Given the description of an element on the screen output the (x, y) to click on. 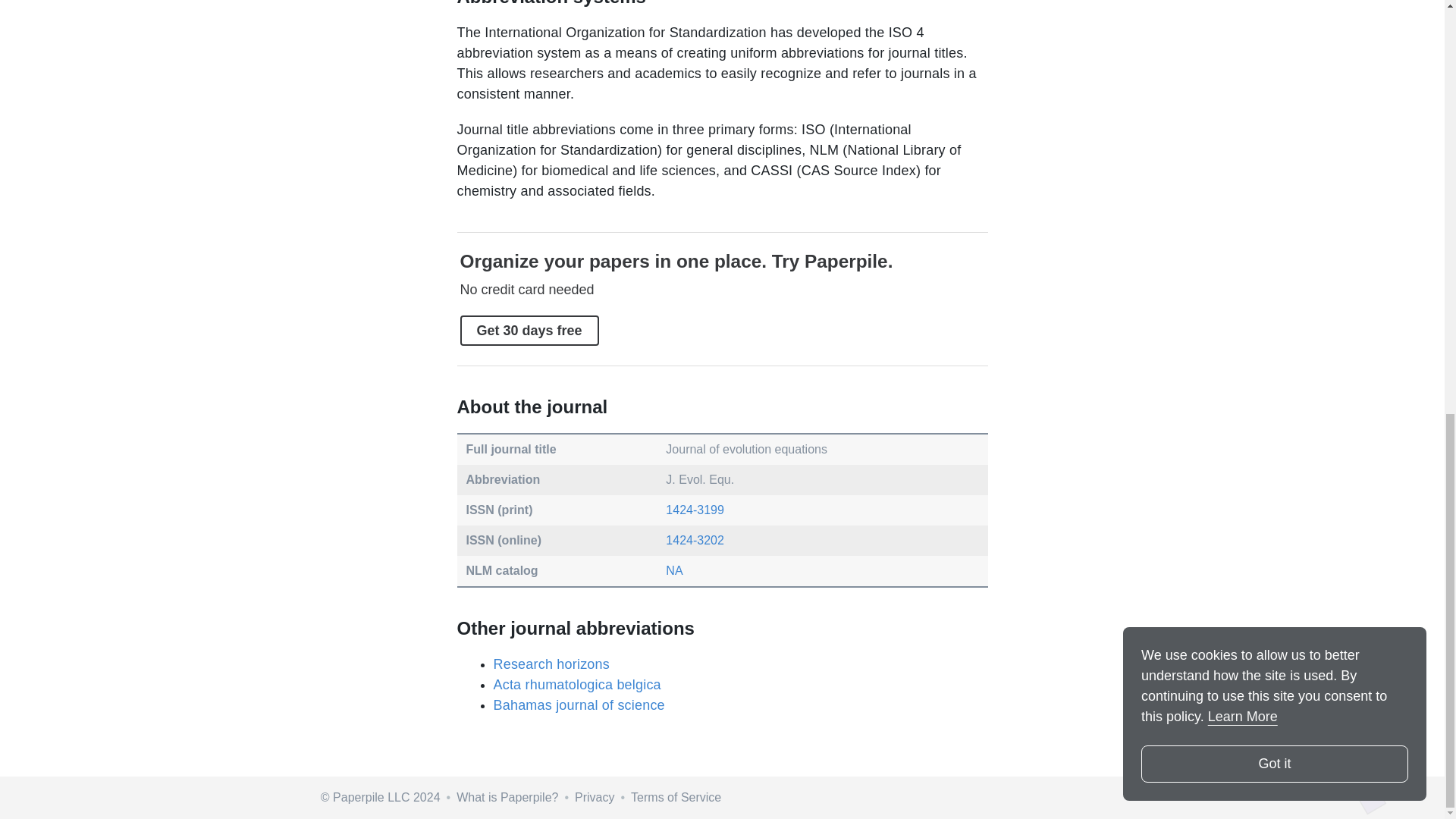
1424-3202 (694, 540)
Acta rhumatologica belgica (576, 684)
Research horizons (550, 663)
Privacy (594, 797)
Bahamas journal of science (577, 704)
NA (673, 570)
Get 30 days free (529, 330)
Terms of Service (675, 797)
What is Paperpile? (506, 797)
1424-3199 (694, 509)
